Given the description of an element on the screen output the (x, y) to click on. 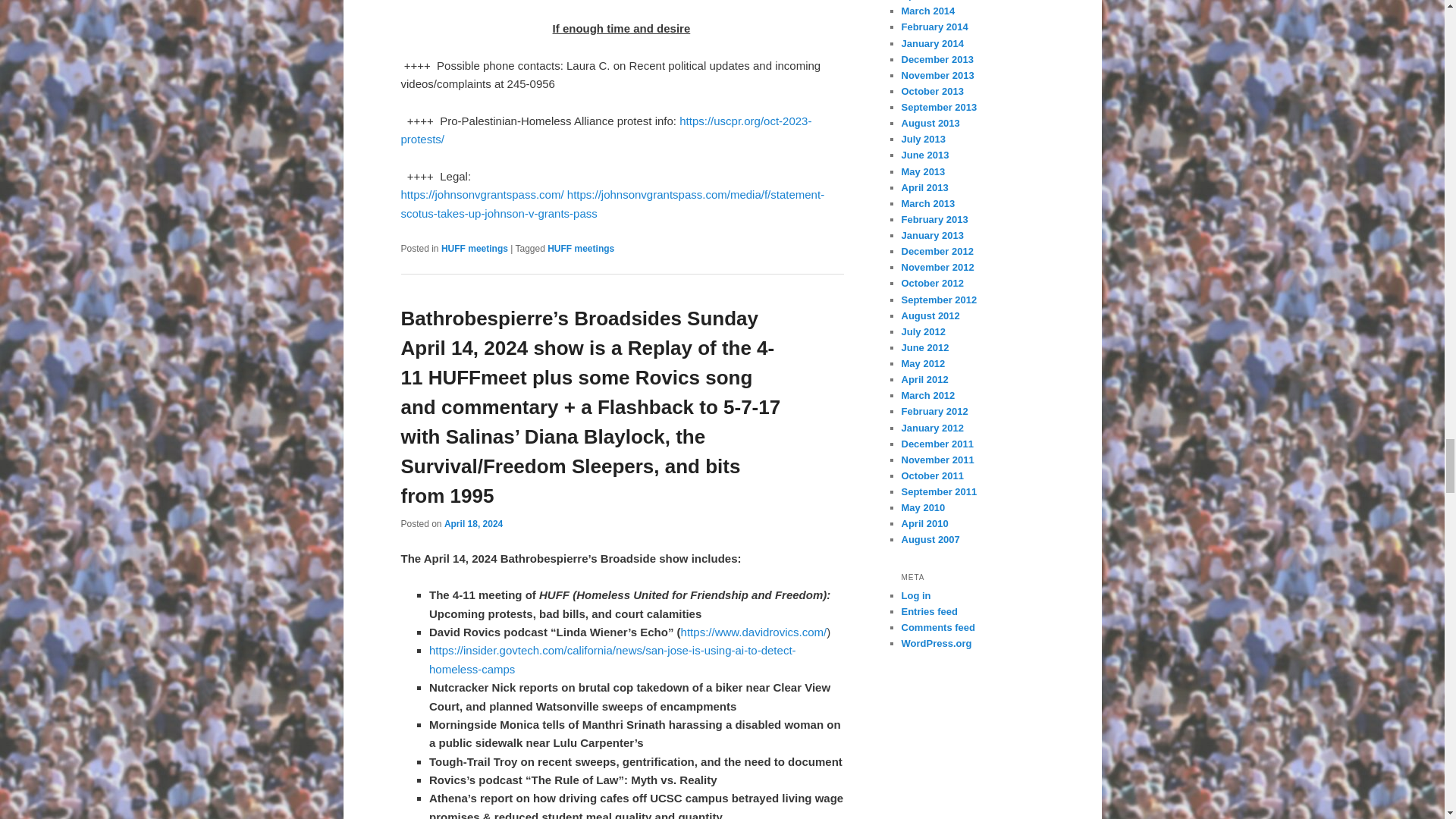
1:35 pm (473, 523)
